Given the description of an element on the screen output the (x, y) to click on. 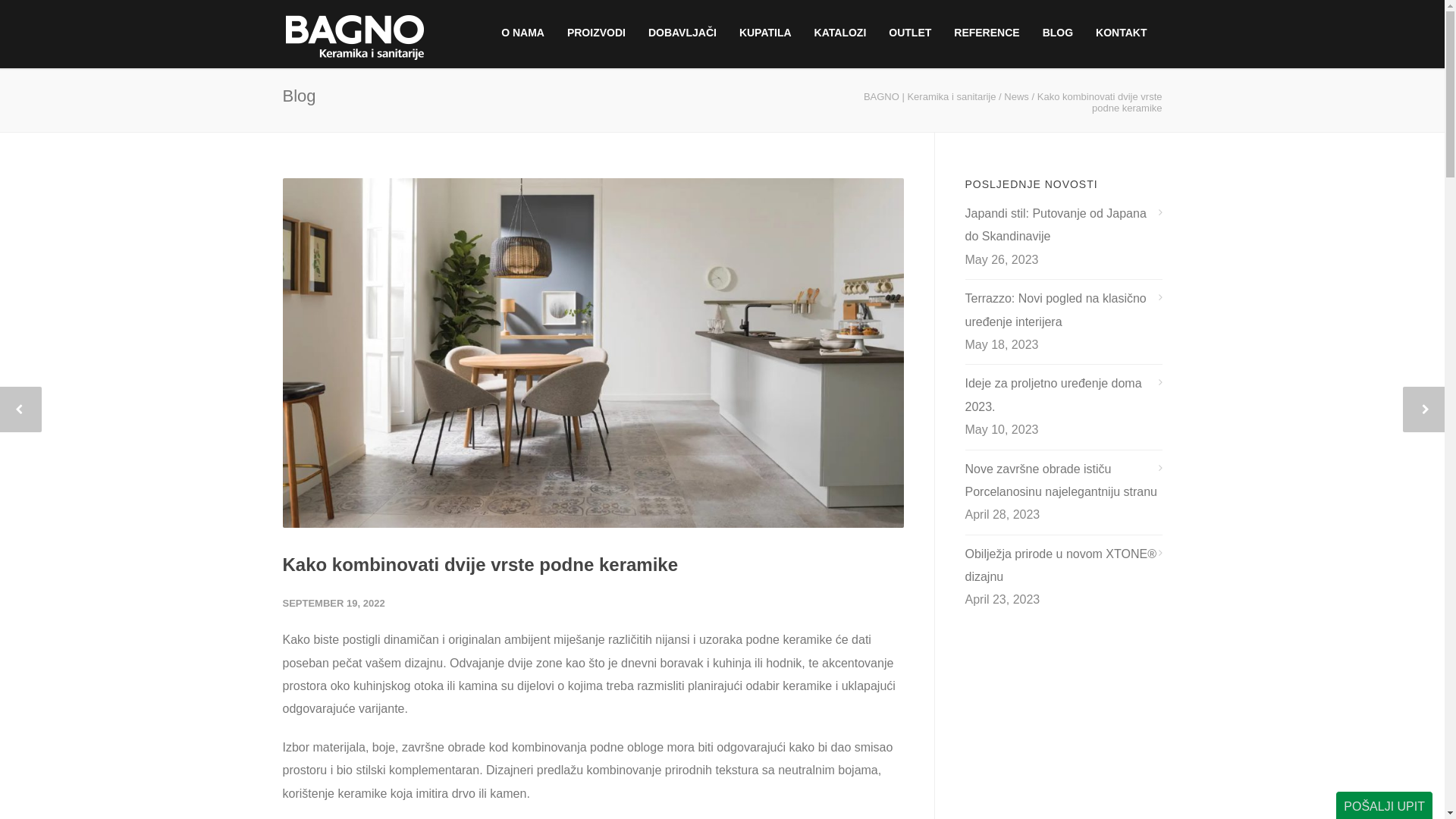
Kako kombinovati dvije vrste podne keramike Element type: hover (592, 352)
OUTLET Element type: text (909, 32)
BLOG Element type: text (1057, 32)
BAGNO | Keramika i sanitarije Element type: text (929, 96)
O NAMA Element type: text (522, 32)
PROIZVODI Element type: text (596, 32)
KUPATILA Element type: text (765, 32)
KONTAKT Element type: text (1120, 32)
Kako kombinovati dvije vrste podne keramike Element type: text (479, 564)
Japandi stil: Putovanje od Japana do Skandinavije Element type: text (1062, 225)
REFERENCE Element type: text (986, 32)
KATALOZI Element type: text (840, 32)
News Element type: text (1016, 96)
